Given the description of an element on the screen output the (x, y) to click on. 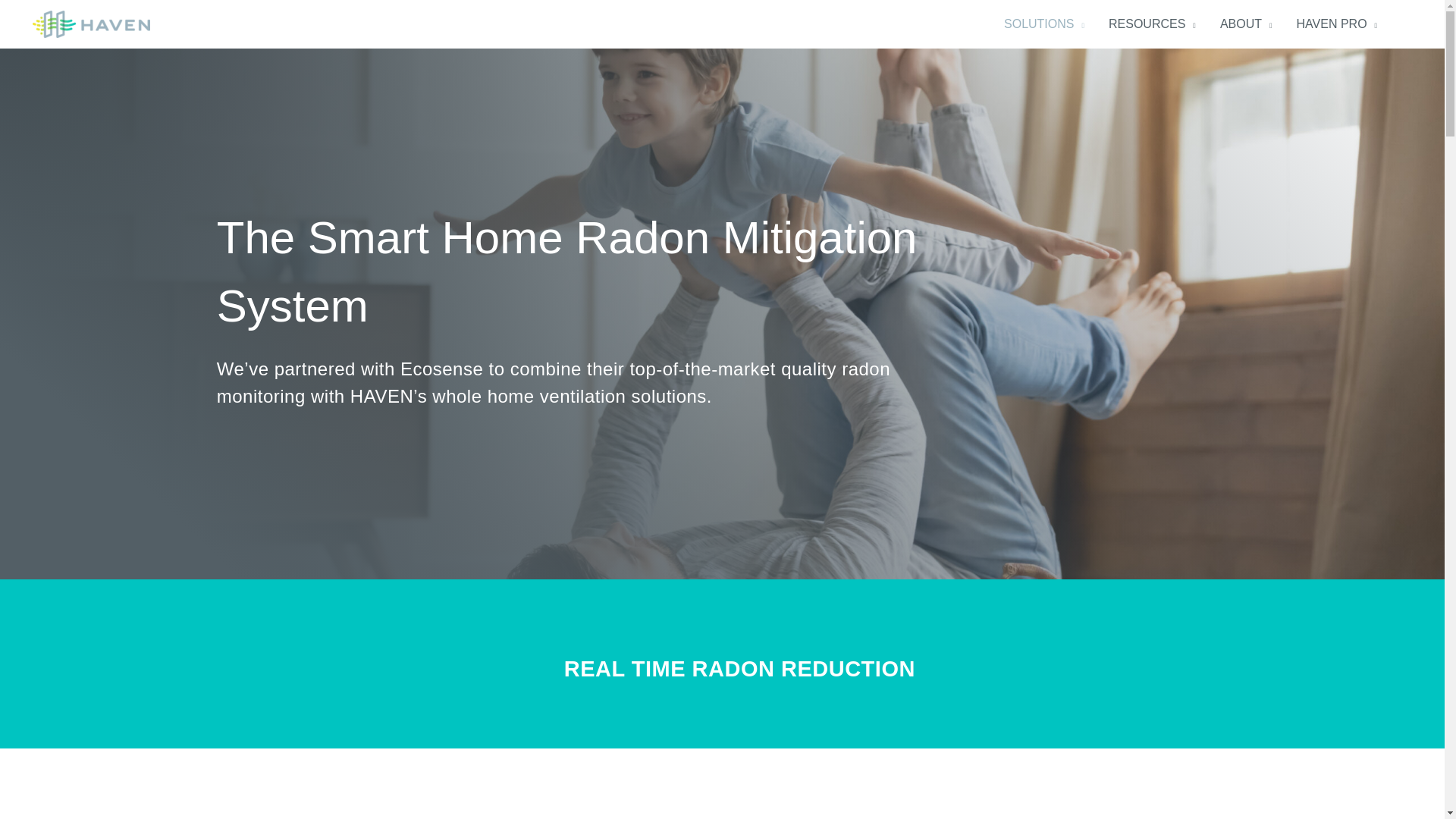
SOLUTIONS (1043, 24)
ABOUT (1246, 24)
RESOURCES (1152, 24)
HAVEN PRO (1337, 24)
